Given the description of an element on the screen output the (x, y) to click on. 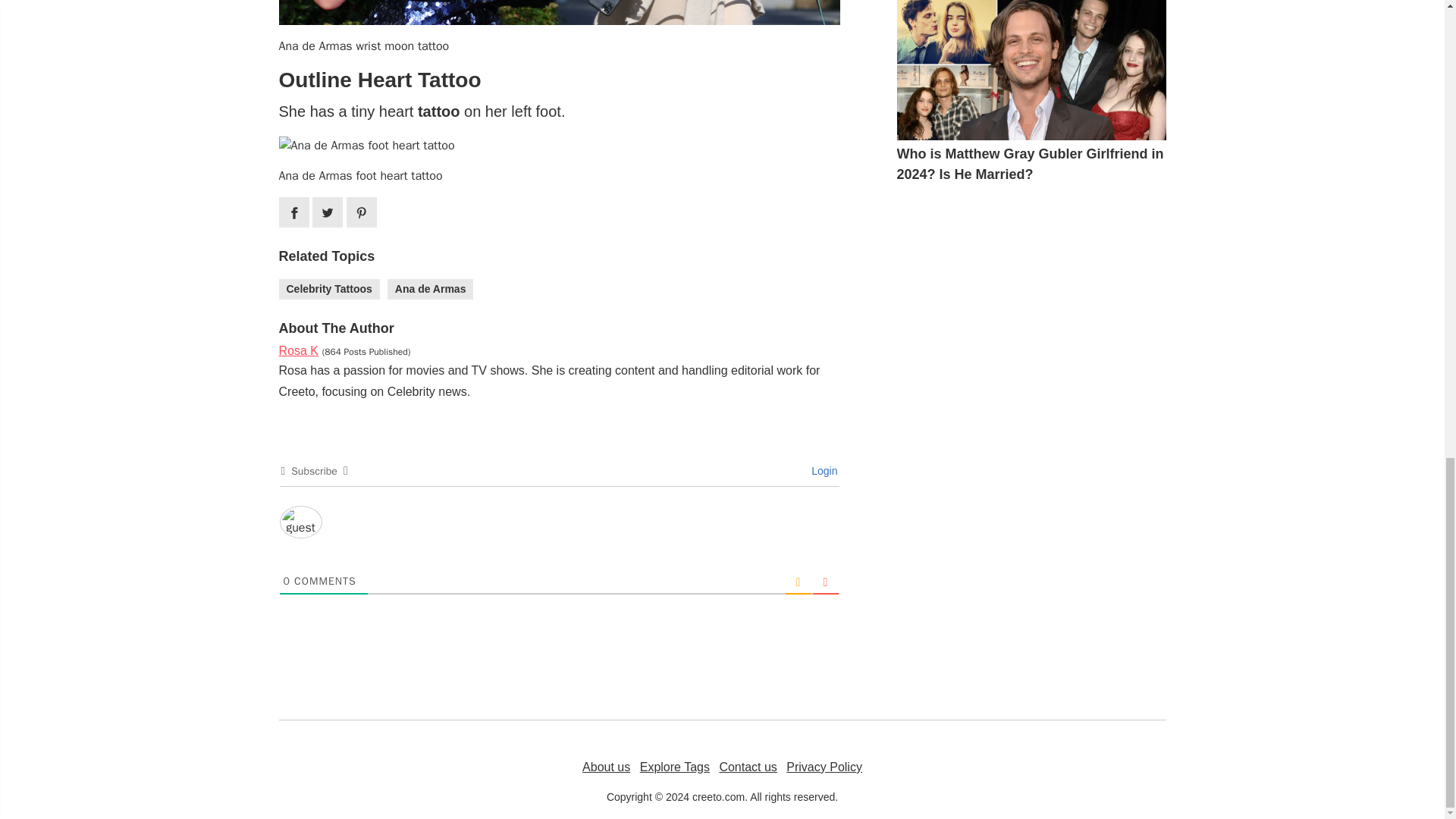
Ana de Armas (430, 289)
Rosa K (298, 350)
Posts by Rosa K (298, 350)
Login (821, 470)
Celebrity Tattoos (329, 289)
